Given the description of an element on the screen output the (x, y) to click on. 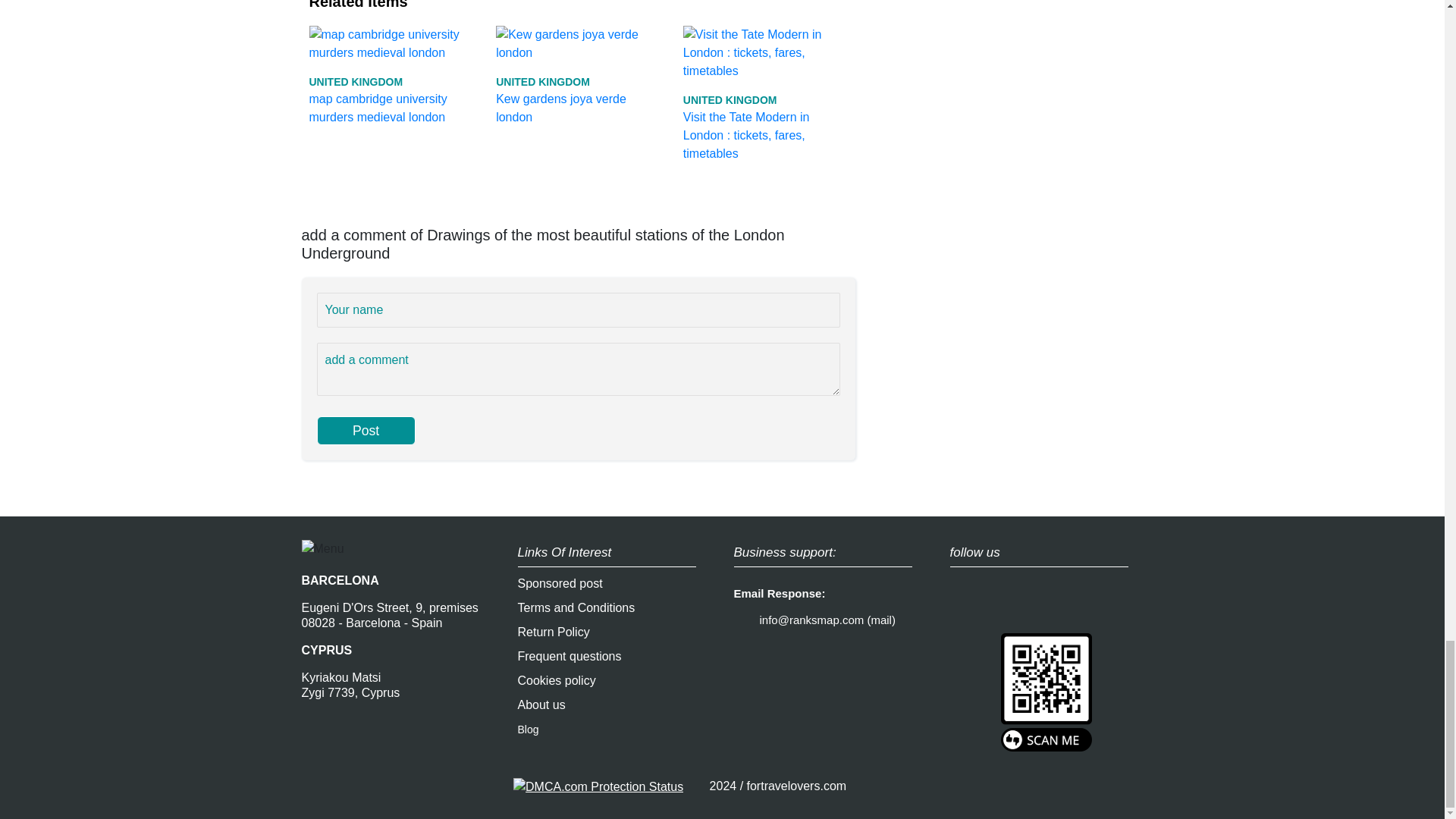
Post (365, 430)
